Given the description of an element on the screen output the (x, y) to click on. 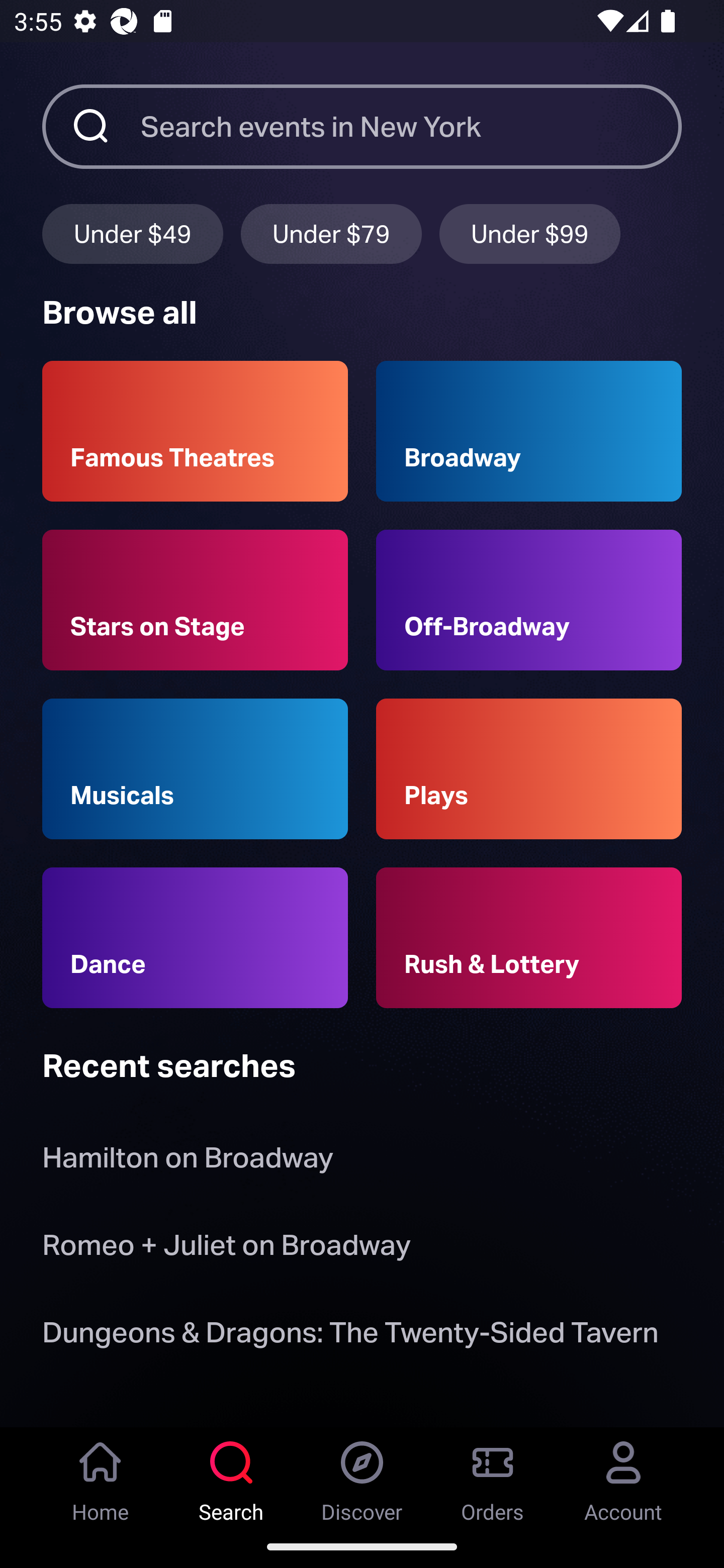
Search events in New York (411, 126)
Under $49 (131, 233)
Under $79 (331, 233)
Under $99 (529, 233)
Famous Theatres (194, 430)
Broadway (528, 430)
Stars on Stage (194, 600)
Off-Broadway (528, 600)
Musicals (194, 768)
Plays (528, 768)
Dance (194, 937)
Rush & Lottery (528, 937)
Hamilton on Broadway (187, 1161)
Romeo + Juliet on Broadway (225, 1248)
Dungeons & Dragons: The Twenty-Sided Tavern (349, 1335)
Home (100, 1475)
Discover (361, 1475)
Orders (492, 1475)
Account (623, 1475)
